Given the description of an element on the screen output the (x, y) to click on. 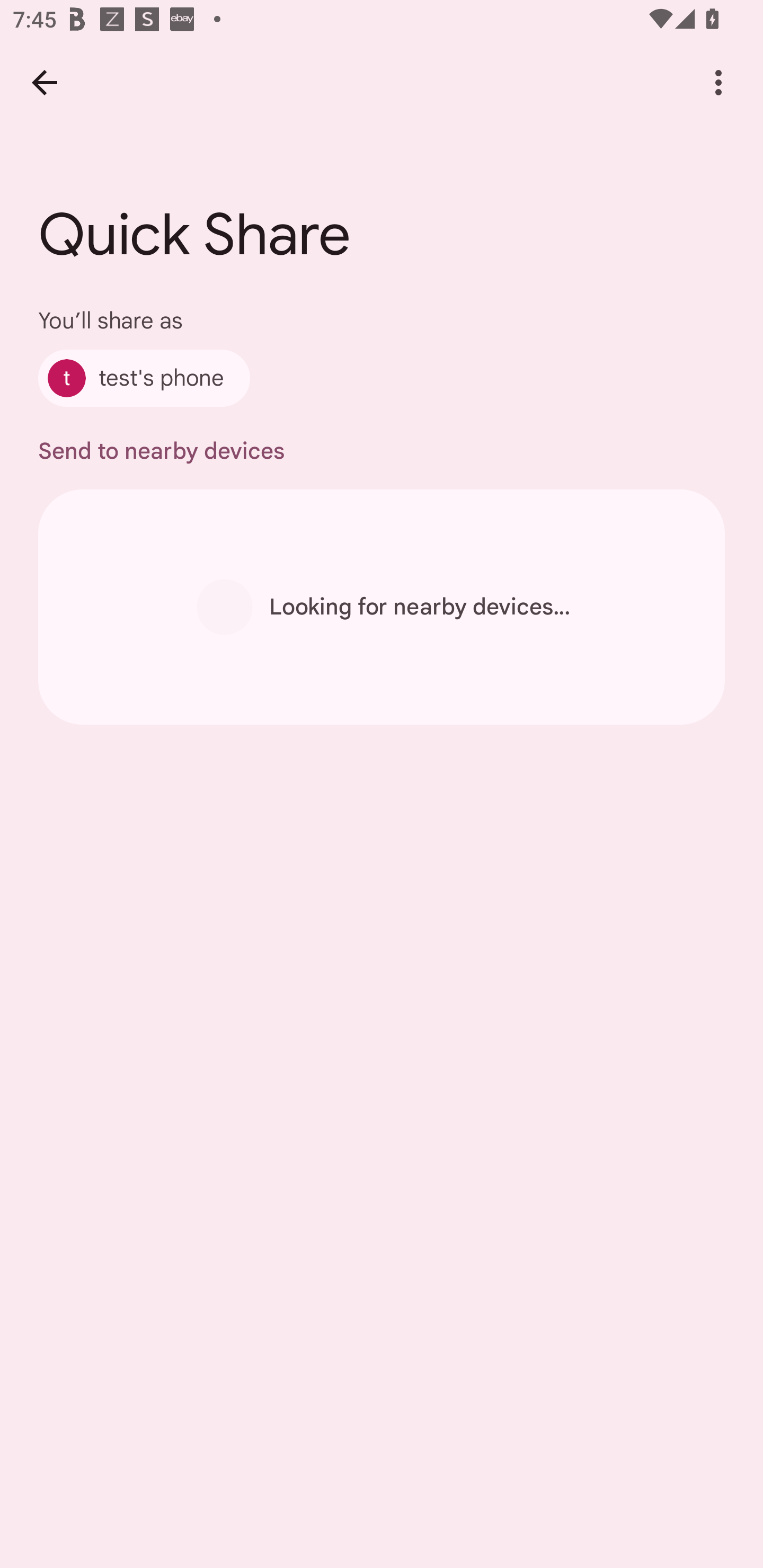
Back (44, 81)
More (718, 81)
test's phone (144, 378)
